Given the description of an element on the screen output the (x, y) to click on. 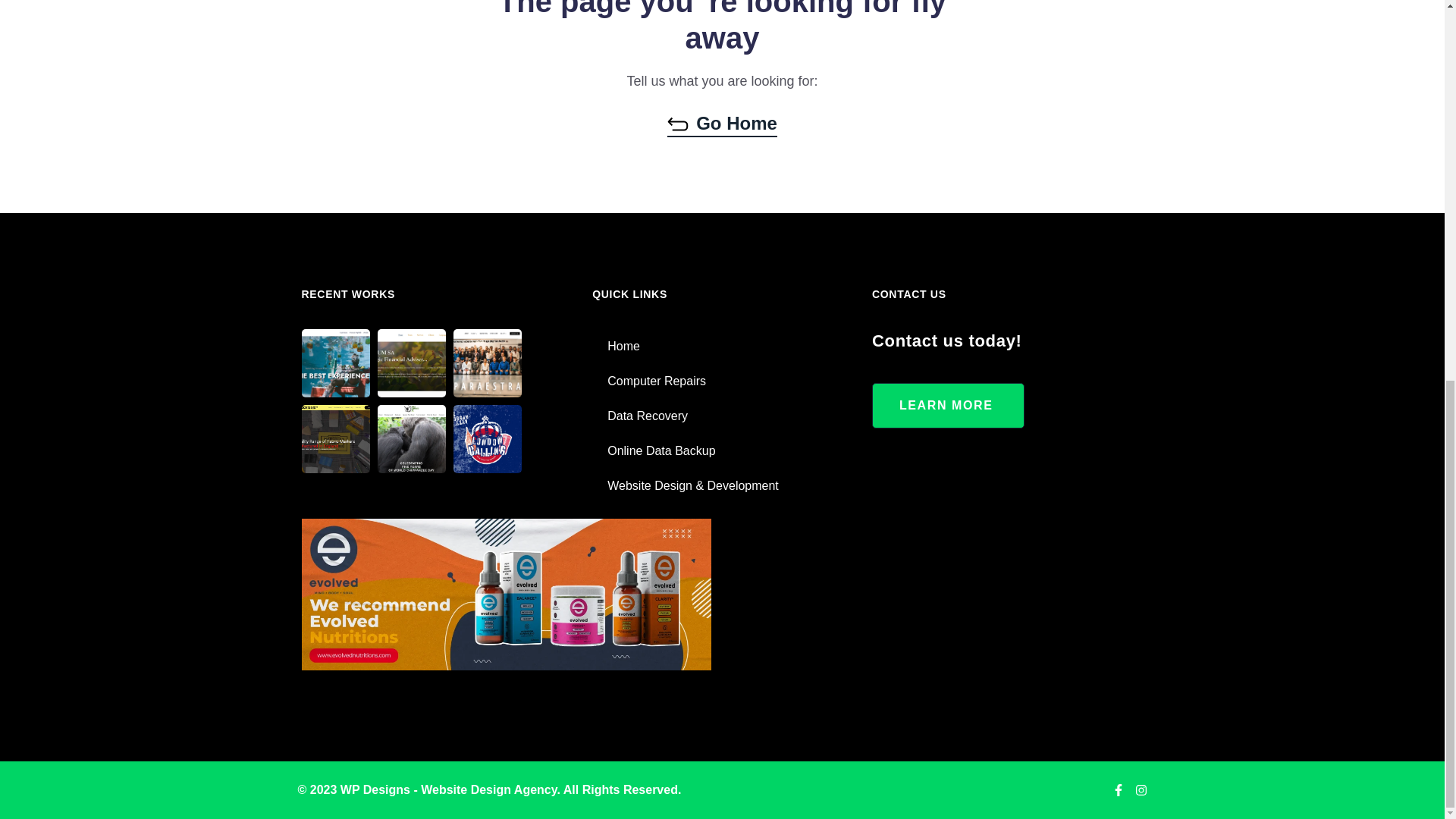
Home (720, 346)
Go Home (721, 123)
Online Data Backup (720, 451)
LEARN MORE (948, 405)
Data Recovery (720, 416)
Computer Repairs (720, 380)
